Given the description of an element on the screen output the (x, y) to click on. 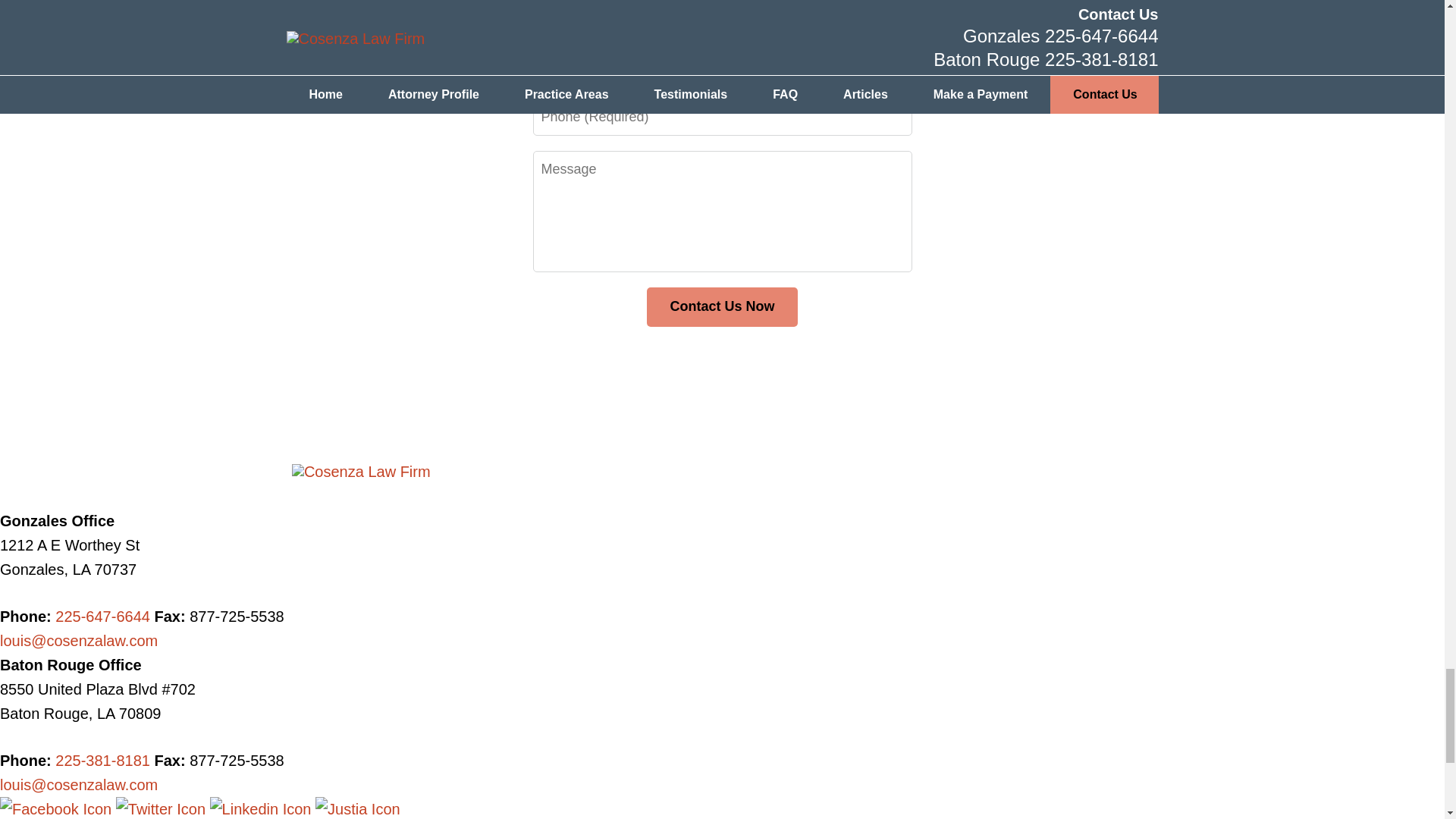
Linkedin (262, 808)
Justia (357, 808)
Facebook (58, 808)
Twitter (162, 808)
